Given the description of an element on the screen output the (x, y) to click on. 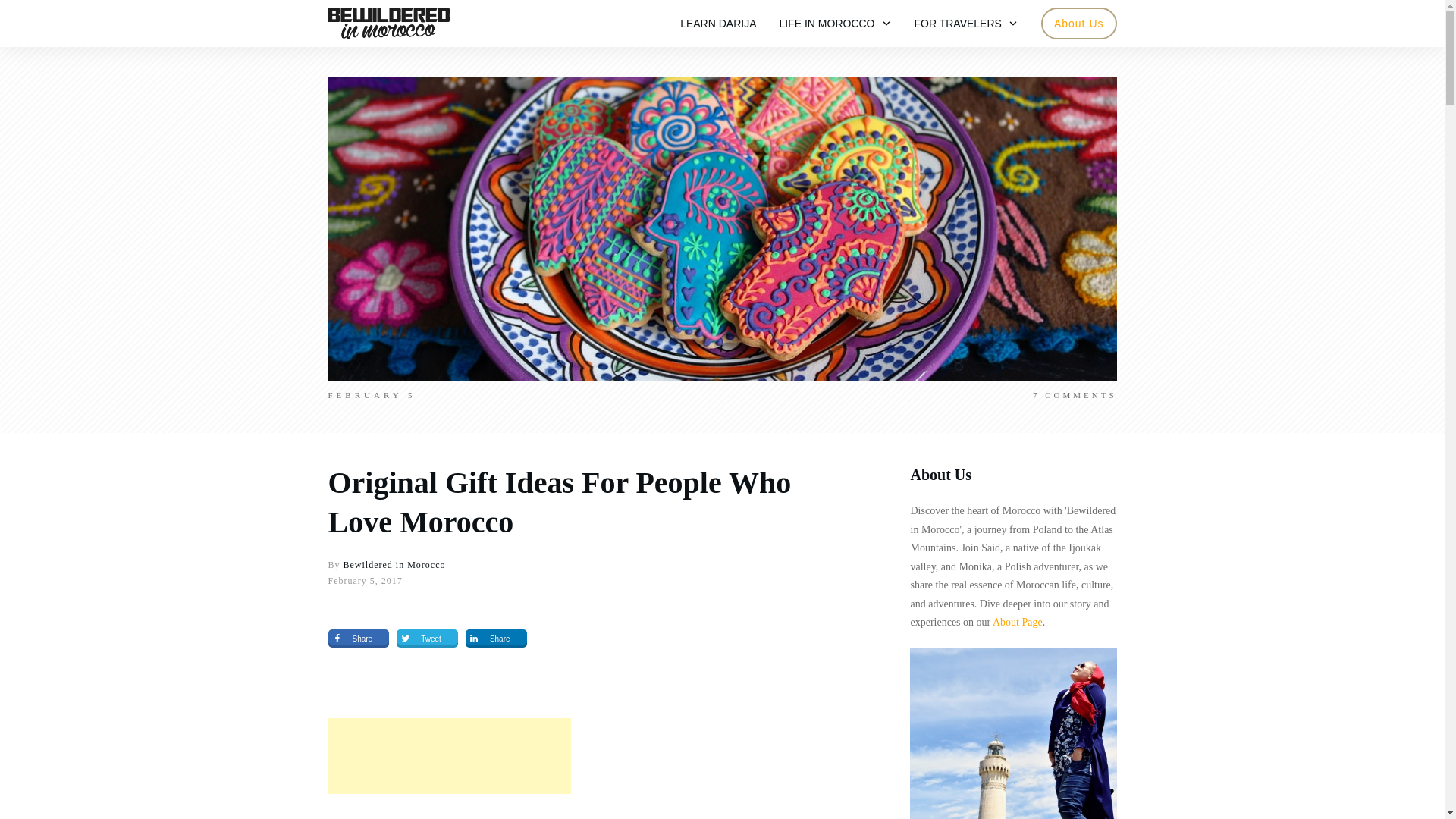
Original Gift Ideas For People Who Love Morocco (558, 502)
Original Gift Ideas For People Who Love Morocco (558, 502)
FOR TRAVELERS (965, 23)
LIFE IN MOROCCO (834, 23)
About Us (1078, 23)
Tweet (427, 638)
LEARN DARIJA (717, 23)
Share (357, 638)
Share (496, 638)
